Given the description of an element on the screen output the (x, y) to click on. 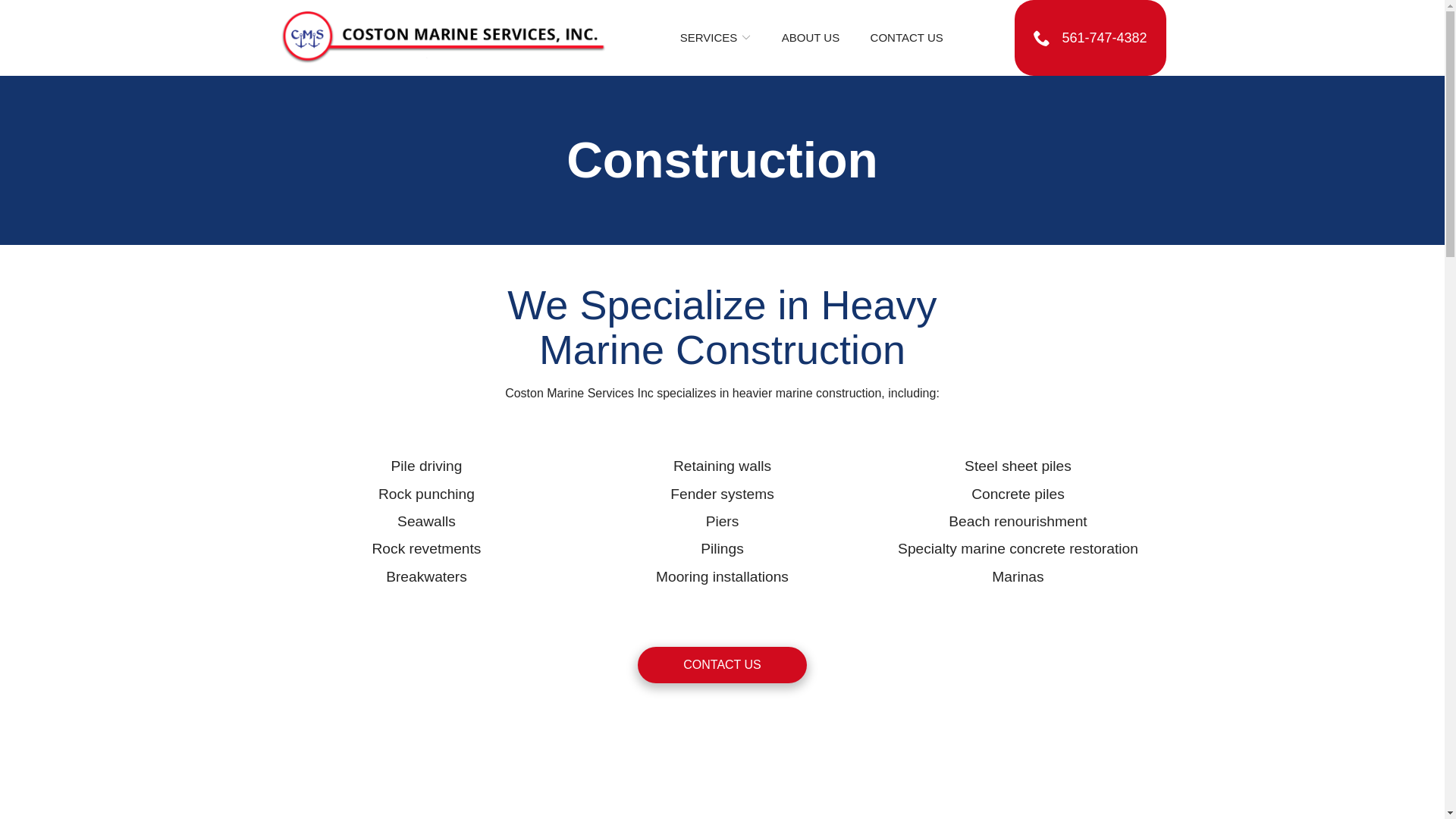
CONTACT US (906, 37)
561-747-4382 (1090, 38)
CONTACT US (721, 665)
SERVICES (715, 37)
ABOUT US (810, 37)
